Given the description of an element on the screen output the (x, y) to click on. 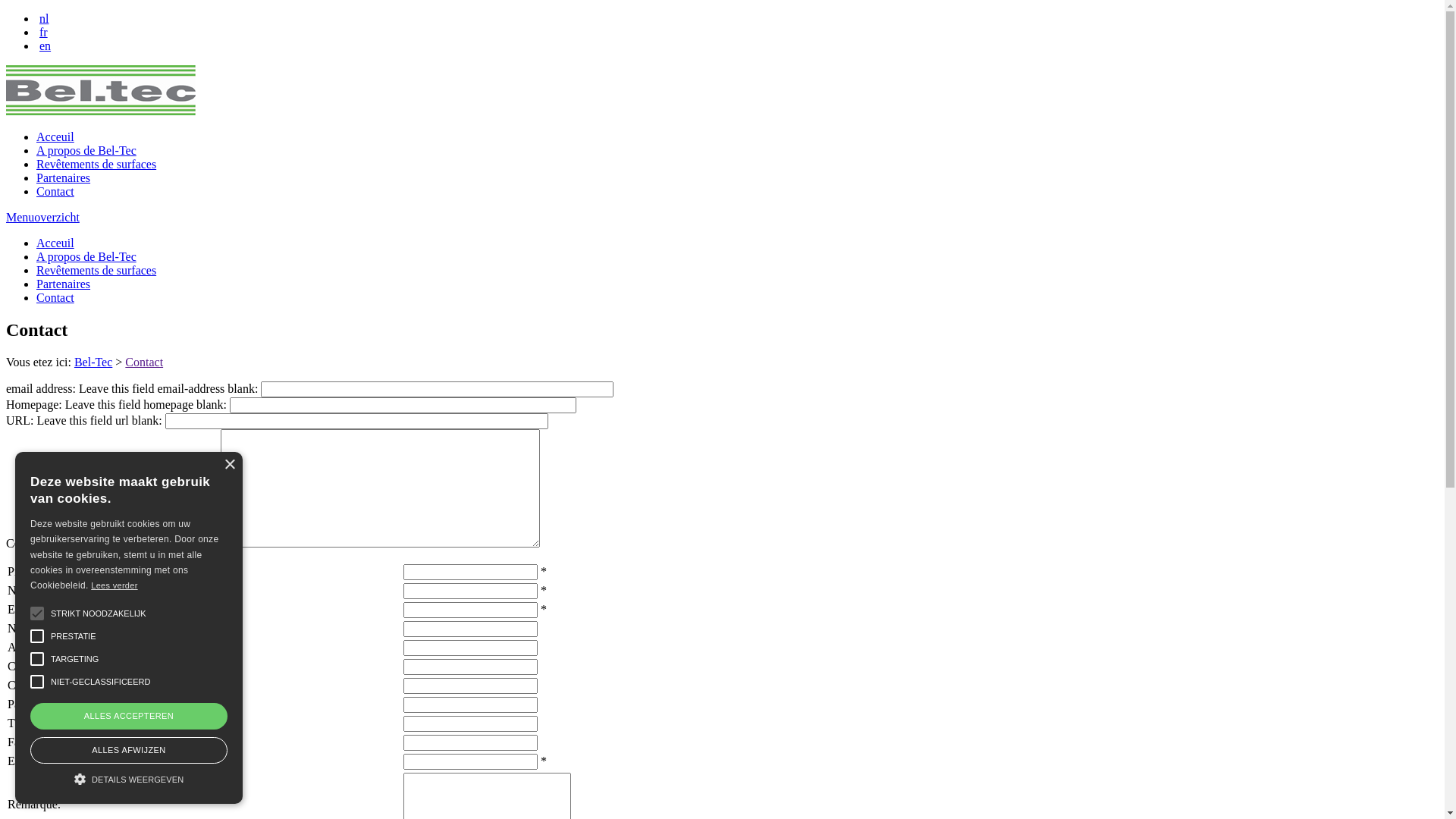
Partenaires Element type: text (63, 177)
nl Element type: text (43, 18)
fr Element type: text (43, 31)
Acceuil Element type: text (55, 136)
Bel-Tec Element type: text (93, 361)
A propos de Bel-Tec Element type: text (86, 150)
Acceuil Element type: text (55, 242)
Lees verder Element type: text (114, 584)
Contact Element type: text (55, 191)
Menuoverzicht Element type: text (42, 216)
Contact Element type: hover (100, 90)
Contact Element type: text (144, 361)
Partenaires Element type: text (63, 283)
A propos de Bel-Tec Element type: text (86, 256)
Contact Element type: text (55, 297)
en Element type: text (44, 45)
